Given the description of an element on the screen output the (x, y) to click on. 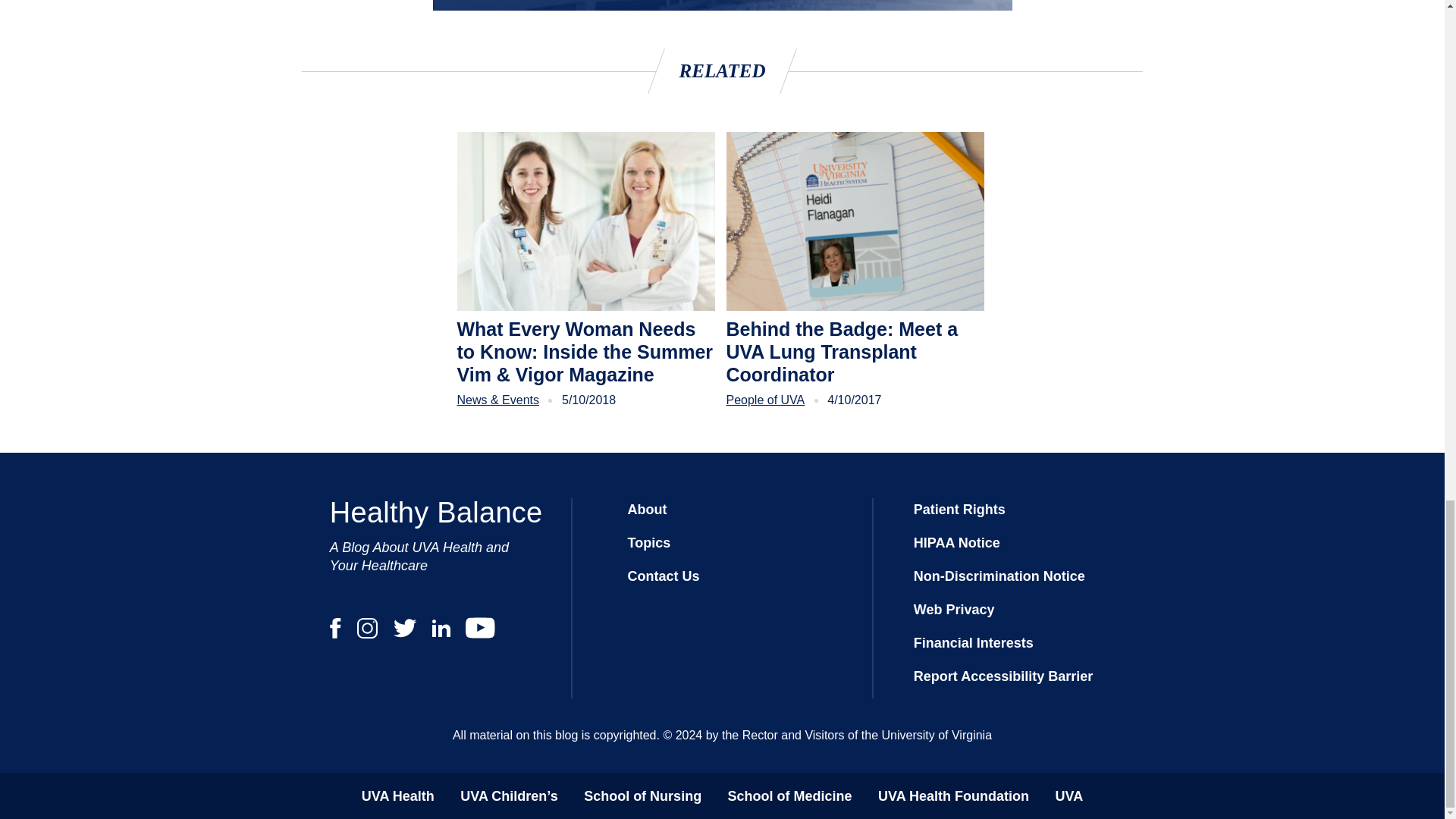
Topics (648, 542)
People of UVA (765, 399)
Behind the Badge: Meet a UVA Lung Transplant Coordinator (855, 351)
About (646, 509)
